Given the description of an element on the screen output the (x, y) to click on. 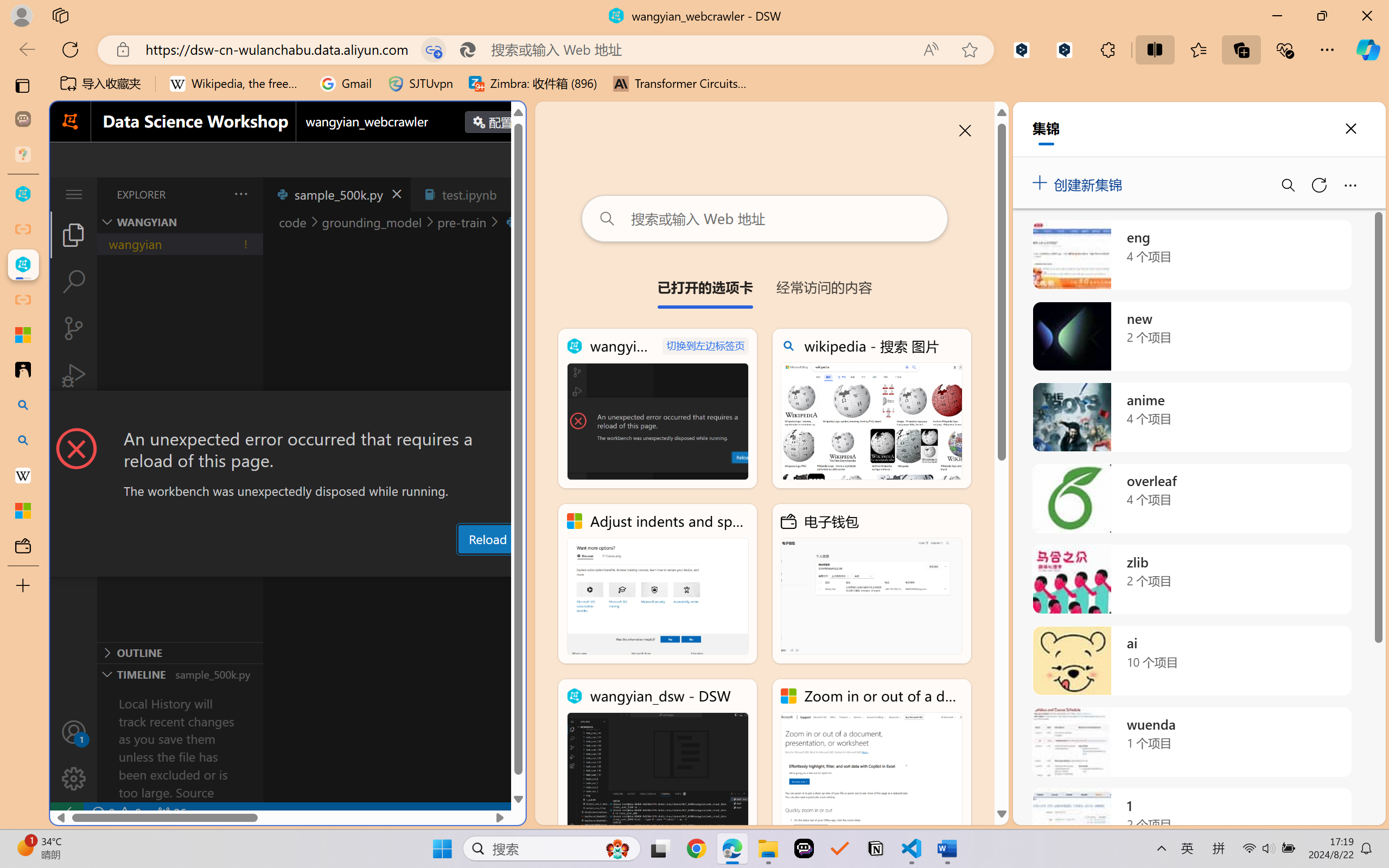
Timeline Section (179, 673)
Transformer Circuits Thread (680, 83)
Terminal (Ctrl+`) (553, 565)
Adjust indents and spacing - Microsoft Support (657, 583)
wangyian_dsw - DSW (22, 194)
